Given the description of an element on the screen output the (x, y) to click on. 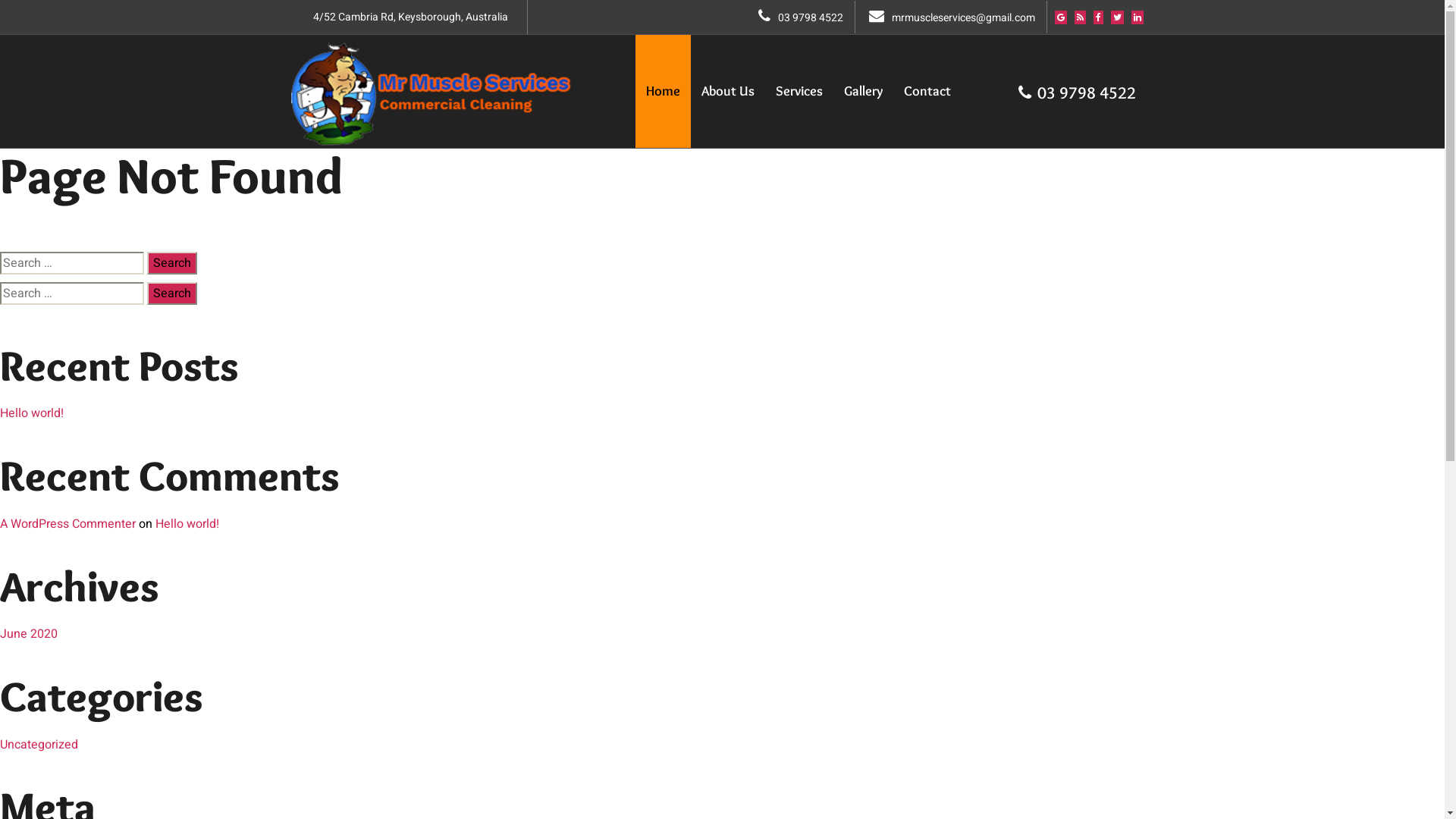
Home Element type: text (662, 90)
Search Element type: text (172, 262)
About Us Element type: text (727, 90)
Hello world! Element type: text (31, 413)
mrmuscleservices@gmail.com Element type: text (952, 17)
Uncategorized Element type: text (39, 744)
Contact Element type: text (927, 90)
Gallery Element type: text (862, 90)
A WordPress Commenter Element type: text (67, 523)
03 9798 4522 Element type: text (1072, 92)
Services Element type: text (798, 90)
03 9798 4522 Element type: text (800, 17)
Hello world! Element type: text (187, 523)
June 2020 Element type: text (28, 633)
Search Element type: text (172, 293)
